Given the description of an element on the screen output the (x, y) to click on. 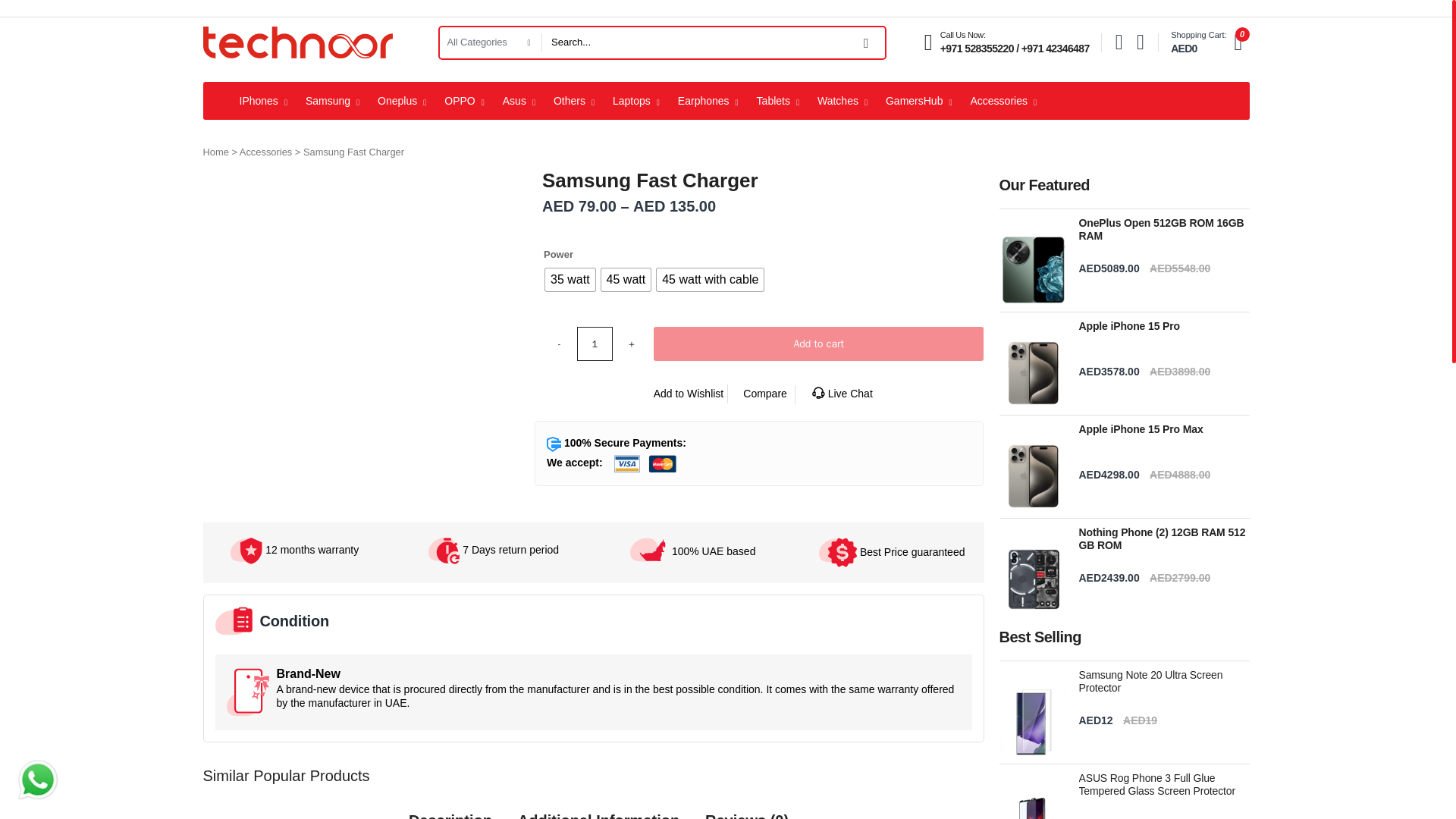
Others (574, 99)
35 watt (569, 279)
Qty (594, 343)
Samsung (332, 99)
45 watt with cable (709, 279)
- (558, 343)
45 watt (625, 279)
submit-button (866, 42)
Oneplus (401, 99)
